Given the description of an element on the screen output the (x, y) to click on. 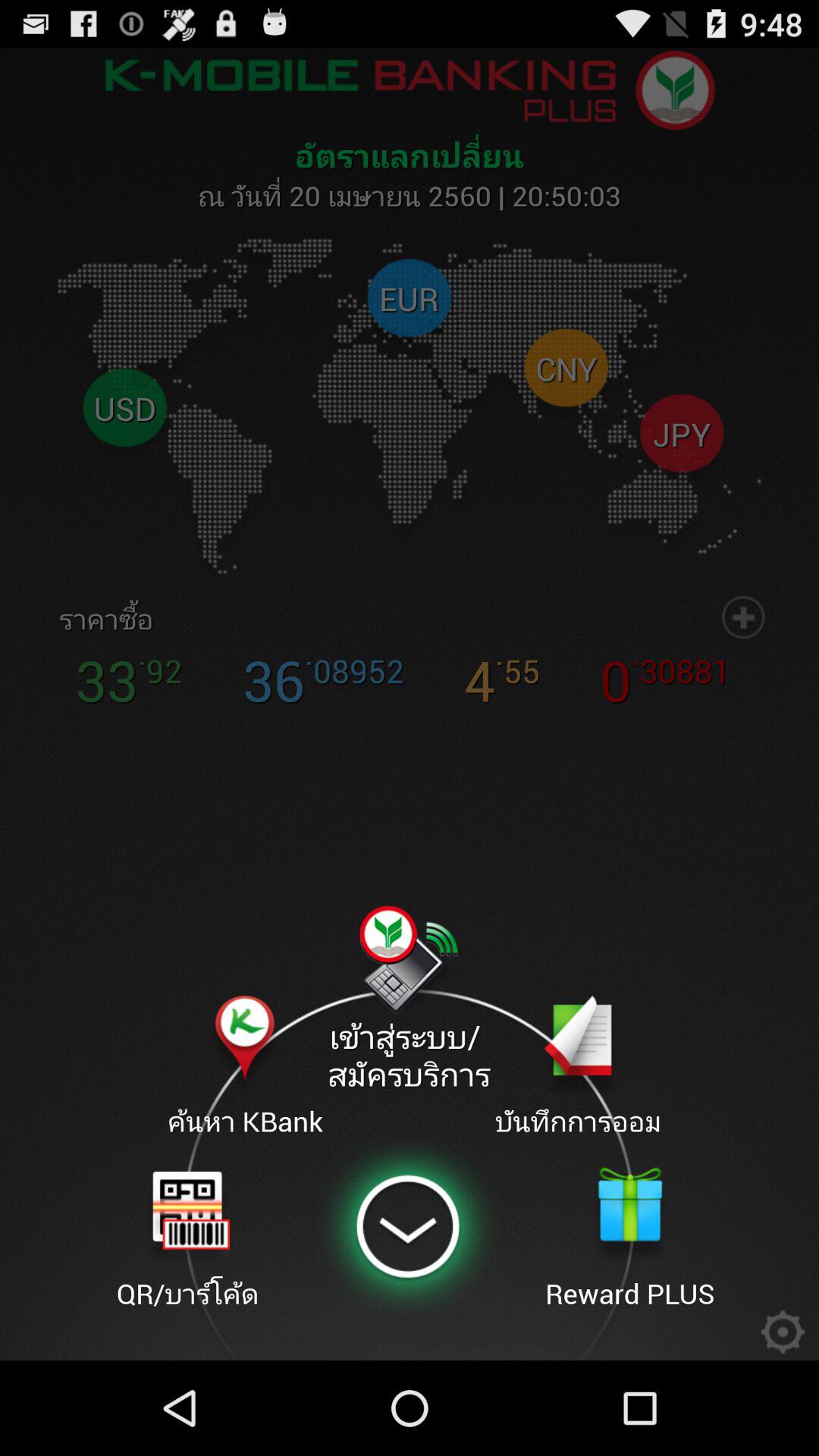
turn off the icon to the left of the 36 icon (96, 618)
